Given the description of an element on the screen output the (x, y) to click on. 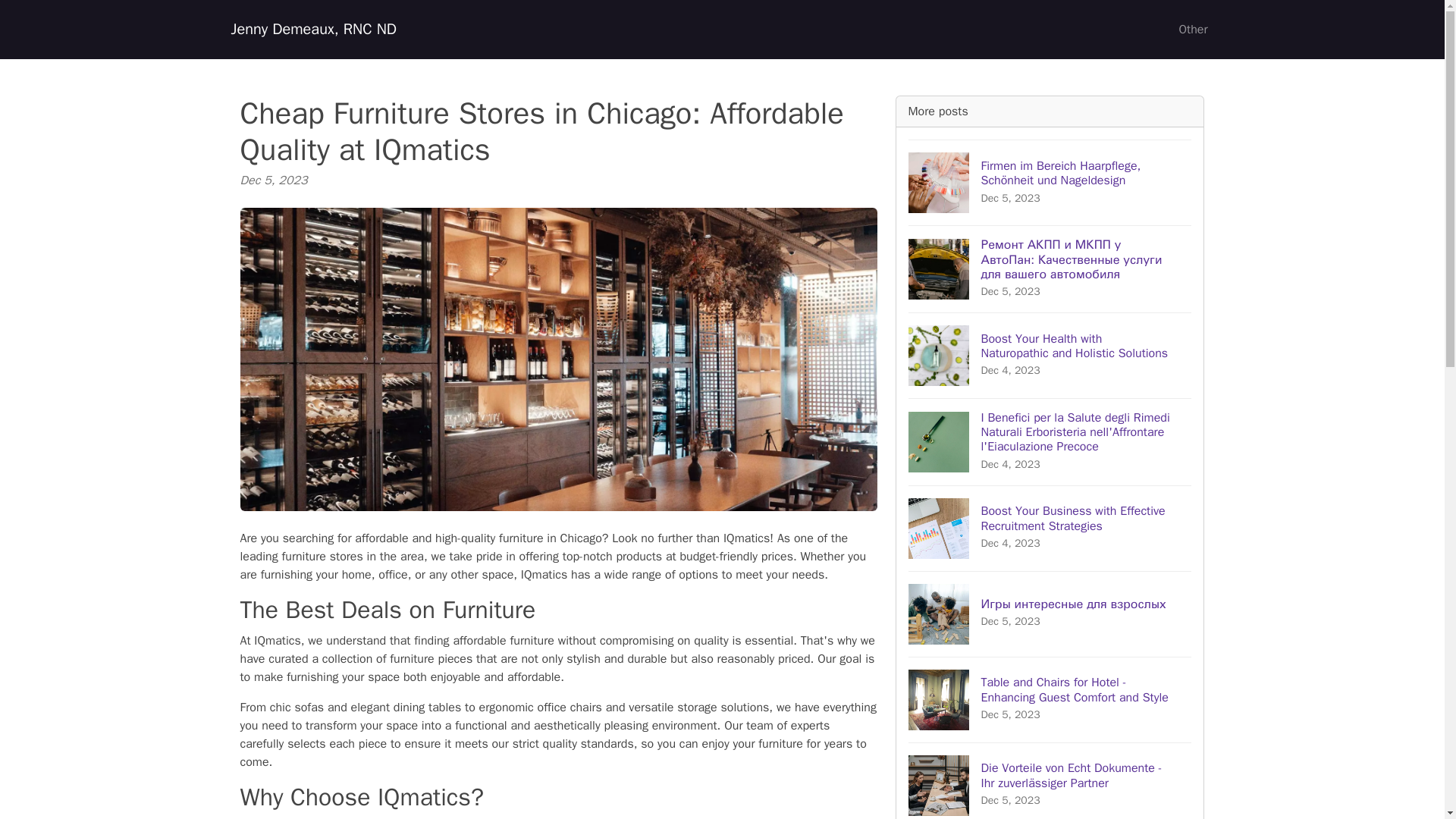
Other (1192, 29)
Jenny Demeaux, RNC ND (313, 29)
